Given the description of an element on the screen output the (x, y) to click on. 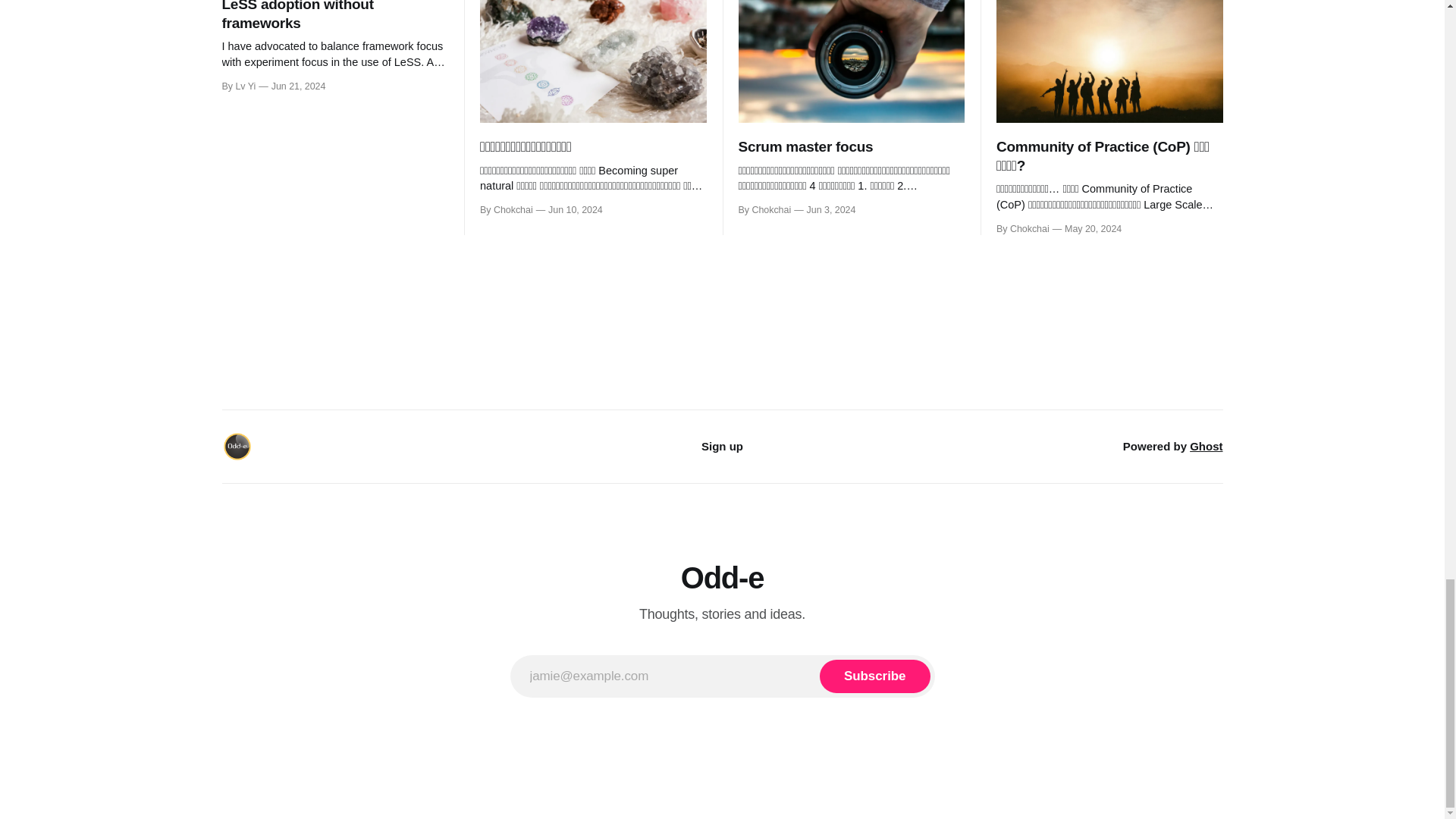
Subscribe (874, 676)
Ghost (1206, 445)
Sign up (721, 445)
